Given the description of an element on the screen output the (x, y) to click on. 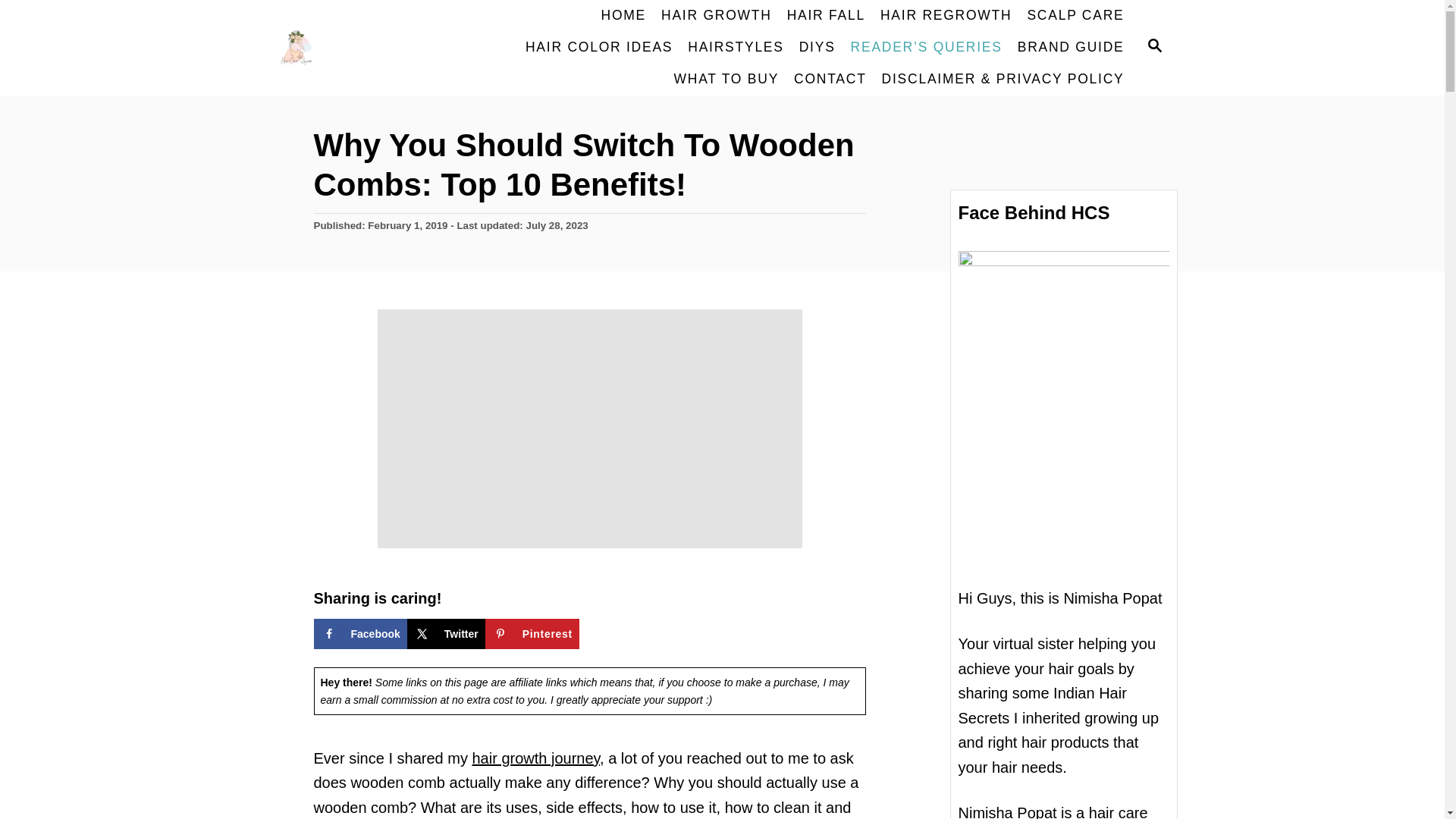
BRAND GUIDE (1071, 47)
WHAT TO BUY (726, 79)
HAIRSTYLES (734, 47)
Save to Pinterest (531, 634)
HAIR GROWTH (715, 15)
hair growth journey (535, 758)
HairCareSquare (354, 47)
CONTACT (830, 79)
Share on X (445, 634)
Twitter (445, 634)
